Given the description of an element on the screen output the (x, y) to click on. 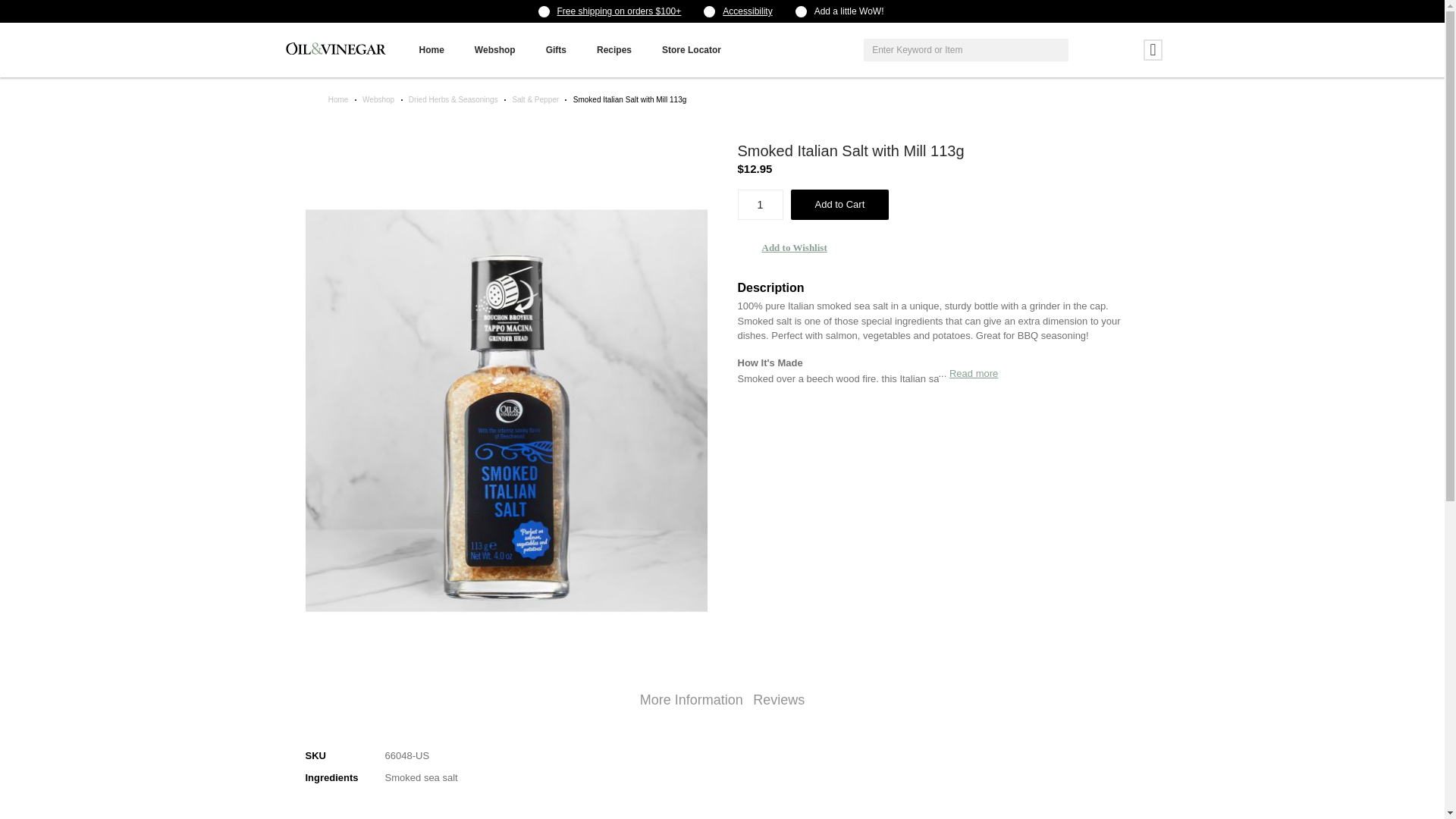
Add to Cart (839, 204)
Qty (759, 204)
Webshop (495, 49)
Go to Home Page (339, 99)
Accessibility (746, 10)
1 (759, 204)
